Given the description of an element on the screen output the (x, y) to click on. 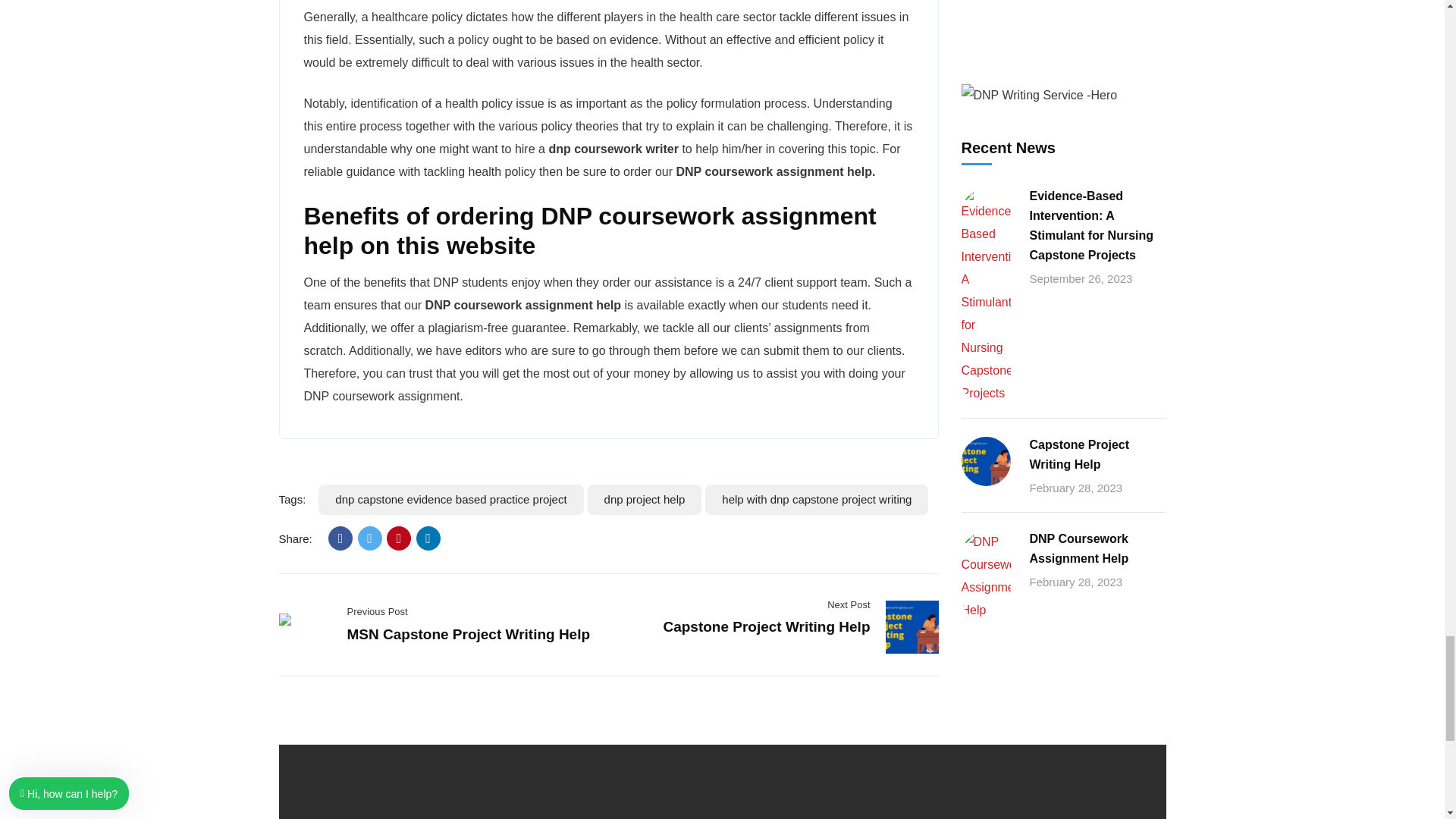
Facebook (340, 538)
Twitter (369, 538)
Pinterest (398, 538)
LinkedIn (428, 538)
